Given the description of an element on the screen output the (x, y) to click on. 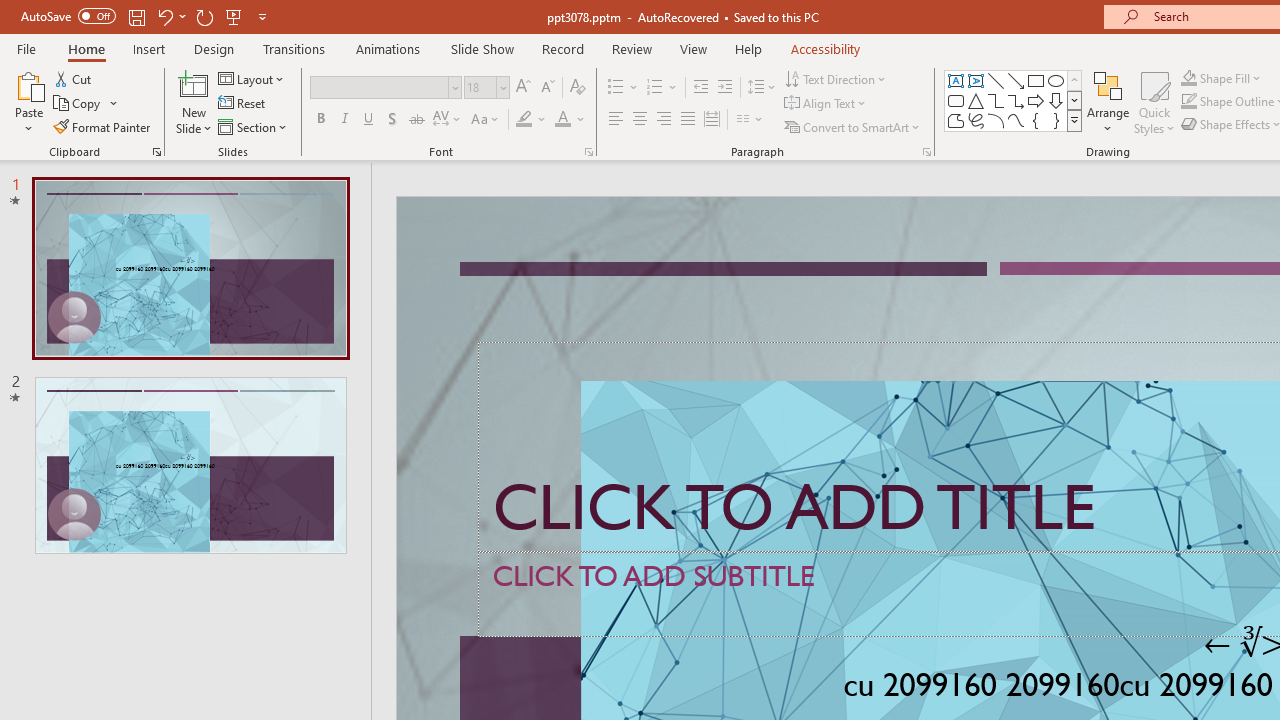
Text Highlight Color Yellow (524, 119)
Curve (1016, 120)
Align Left (616, 119)
Class: NetUIImage (1075, 120)
Oval (1055, 80)
Vertical Text Box (975, 80)
Bullets (616, 87)
Rectangle: Rounded Corners (955, 100)
Align Right (663, 119)
